Given the description of an element on the screen output the (x, y) to click on. 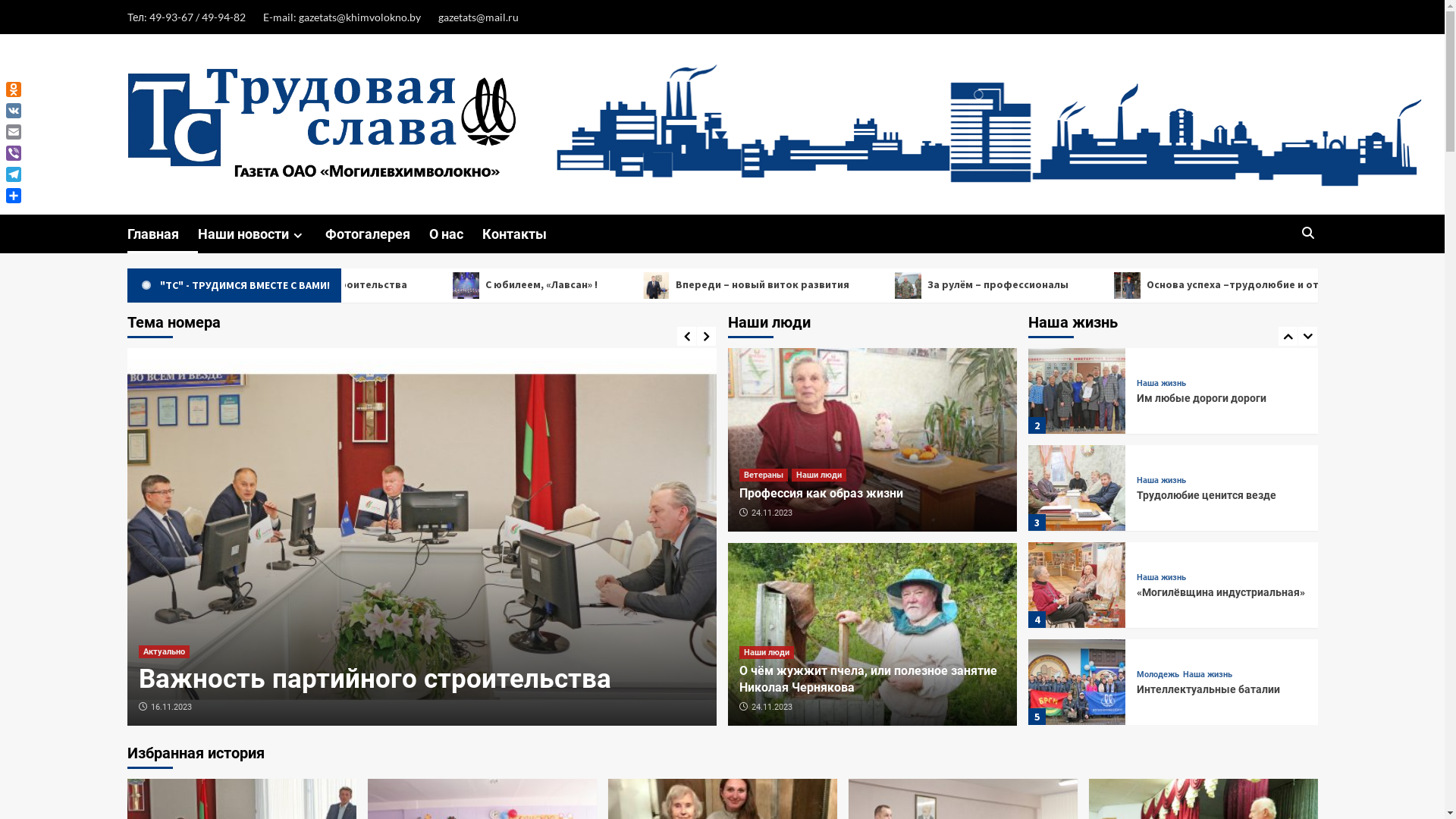
Viber Element type: text (13, 152)
23.11.2023 Element type: text (170, 707)
Odnoklassniki Element type: text (13, 89)
VK Element type: text (13, 110)
24.11.2023 Element type: text (771, 707)
Search Element type: hover (1307, 233)
Email Element type: text (13, 131)
gazetats@mail.ru Element type: text (478, 17)
Telegram Element type: text (13, 174)
E-mail: gazetats@khimvolokno.by Element type: text (340, 17)
24.11.2023 Element type: text (771, 512)
